Given the description of an element on the screen output the (x, y) to click on. 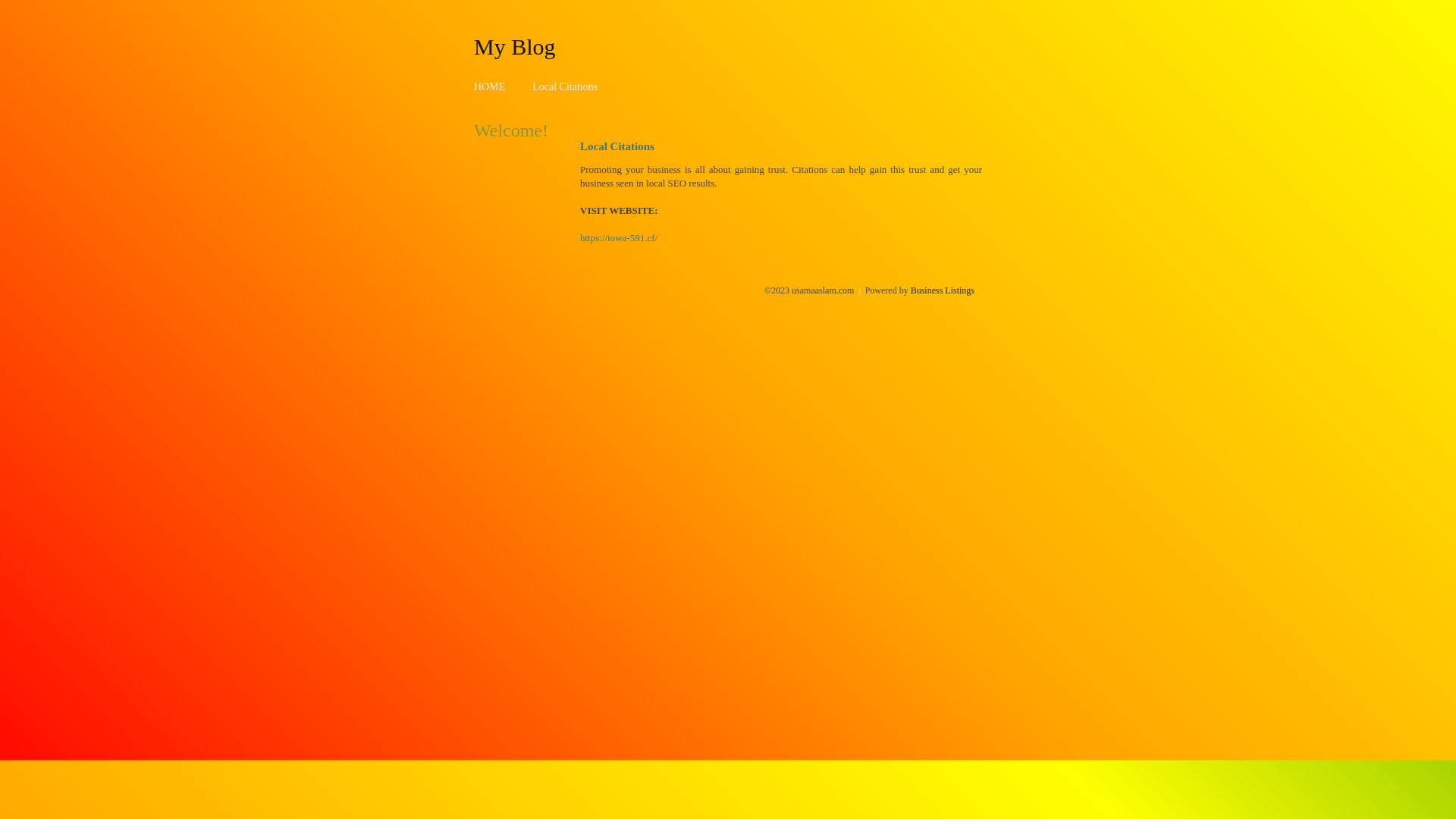
Local Citations Element type: text (564, 86)
HOME Element type: text (489, 86)
Business Listings Element type: text (942, 290)
https://iowa-591.cf/ Element type: text (618, 237)
My Blog Element type: text (514, 46)
